Given the description of an element on the screen output the (x, y) to click on. 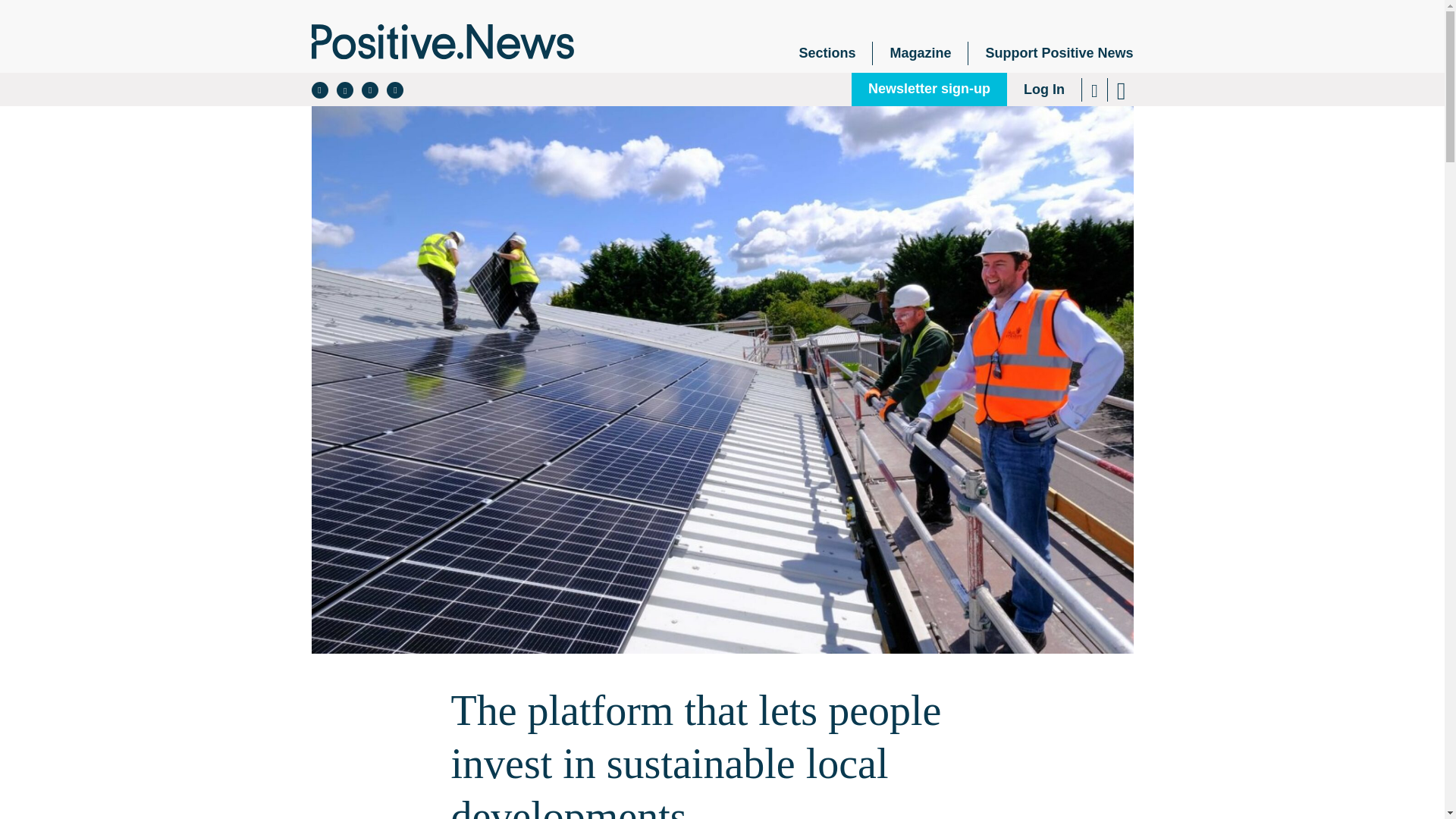
Sections (826, 53)
Newsletter sign-up (929, 89)
Support Positive News (1050, 53)
Log In (1044, 89)
Magazine (920, 53)
